Given the description of an element on the screen output the (x, y) to click on. 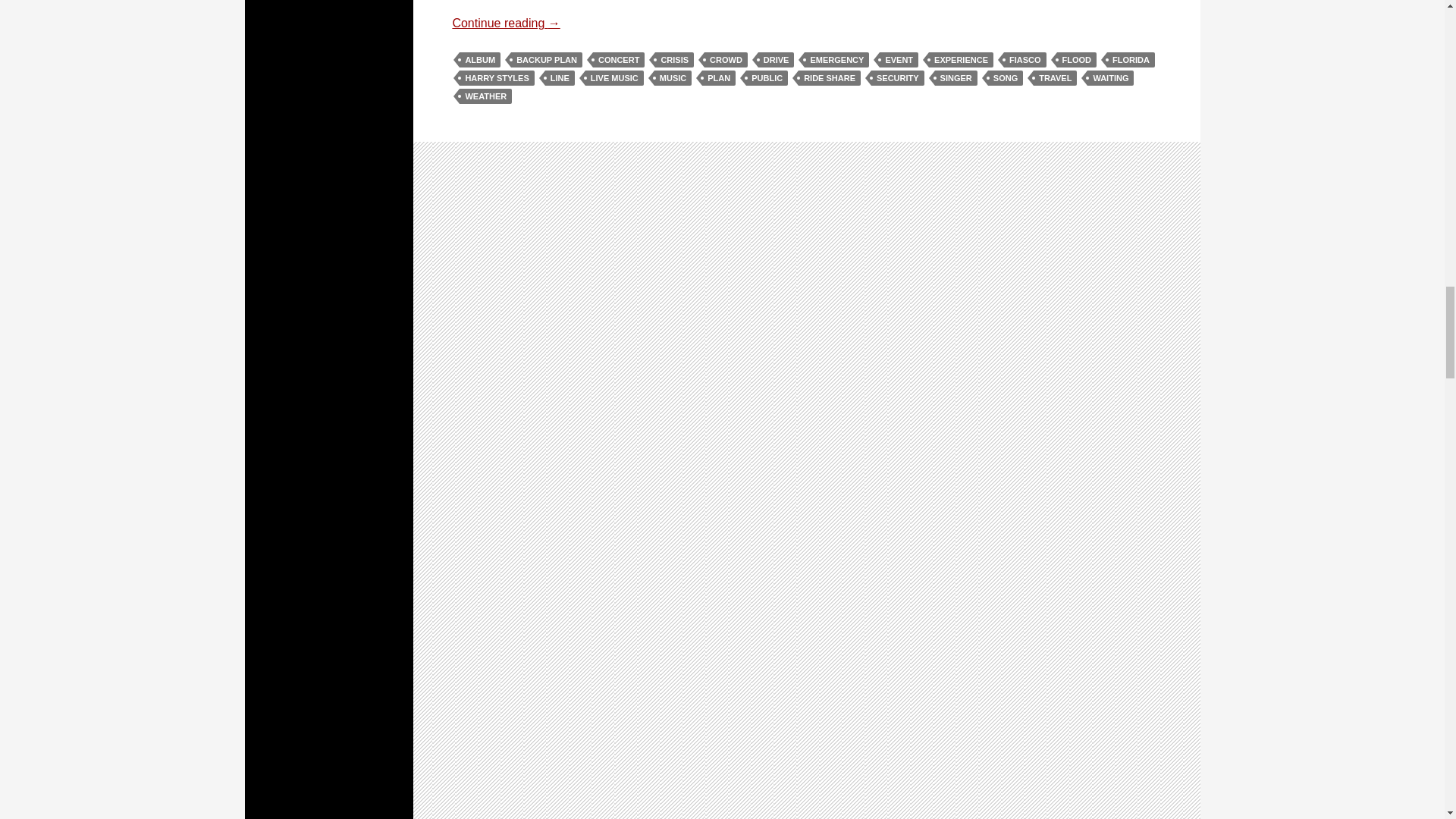
LIVE MUSIC (614, 77)
MUSIC (672, 77)
TRAVEL (1055, 77)
FIASCO (1025, 59)
HARRY STYLES (497, 77)
CRISIS (674, 59)
EVENT (898, 59)
FLORIDA (1130, 59)
RIDE SHARE (828, 77)
SONG (1005, 77)
SECURITY (897, 77)
WAITING (1110, 77)
LINE (559, 77)
EXPERIENCE (960, 59)
CONCERT (618, 59)
